Given the description of an element on the screen output the (x, y) to click on. 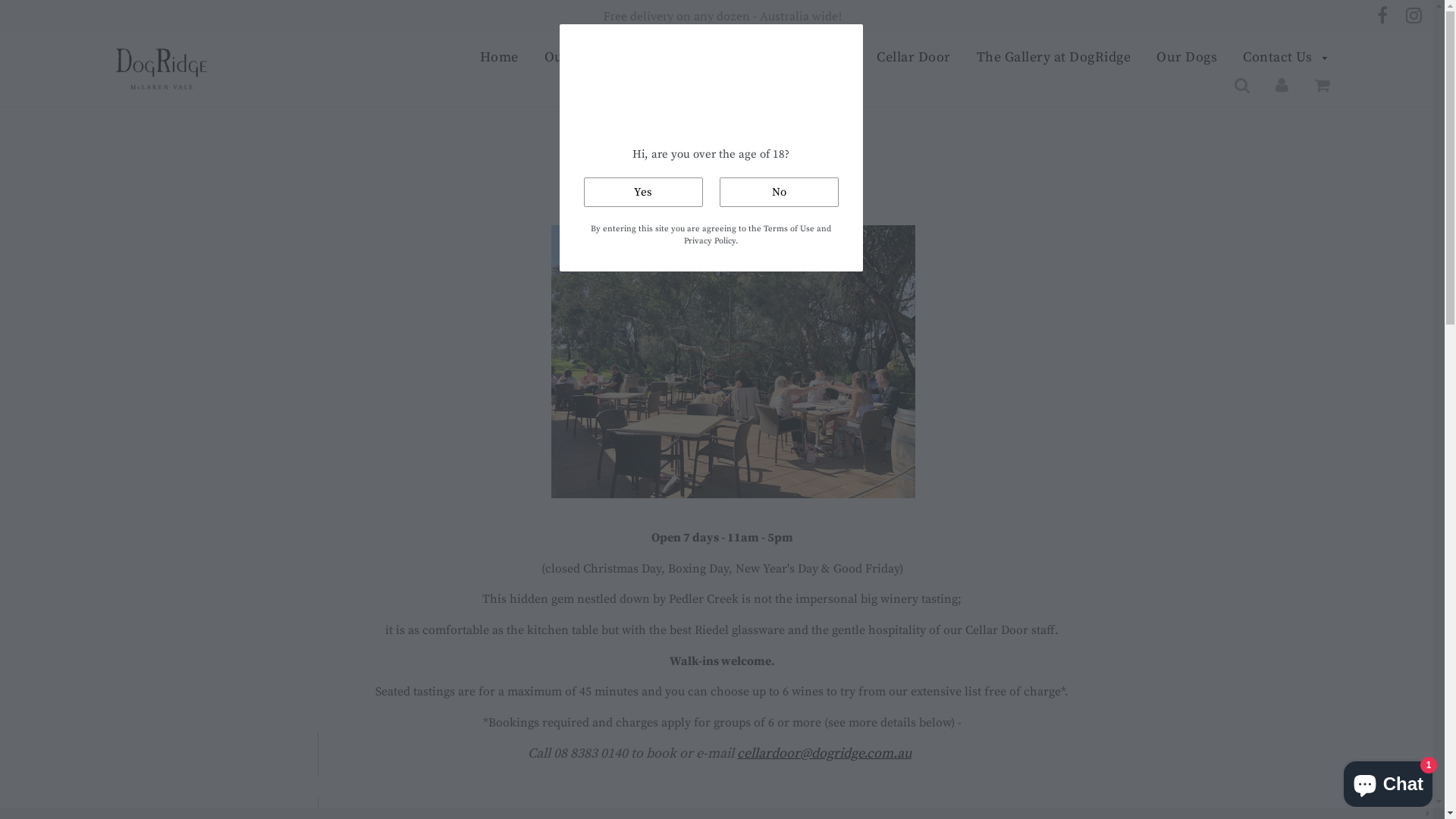
Log in Element type: hover (1281, 84)
Yes Element type: text (642, 192)
No Element type: text (777, 192)
The Gallery at DogRidge Element type: text (1053, 57)
cellardoor@dogridge.com.au Element type: text (824, 753)
Wines Element type: text (660, 57)
Our Dogs Element type: text (1186, 57)
Our Story Element type: text (575, 57)
Contact Us Element type: text (1280, 57)
Home Element type: text (499, 57)
Shopify online store chat Element type: hover (1388, 780)
DogHouse Wine Club Element type: text (782, 57)
Cellar Door Element type: text (913, 57)
